Given the description of an element on the screen output the (x, y) to click on. 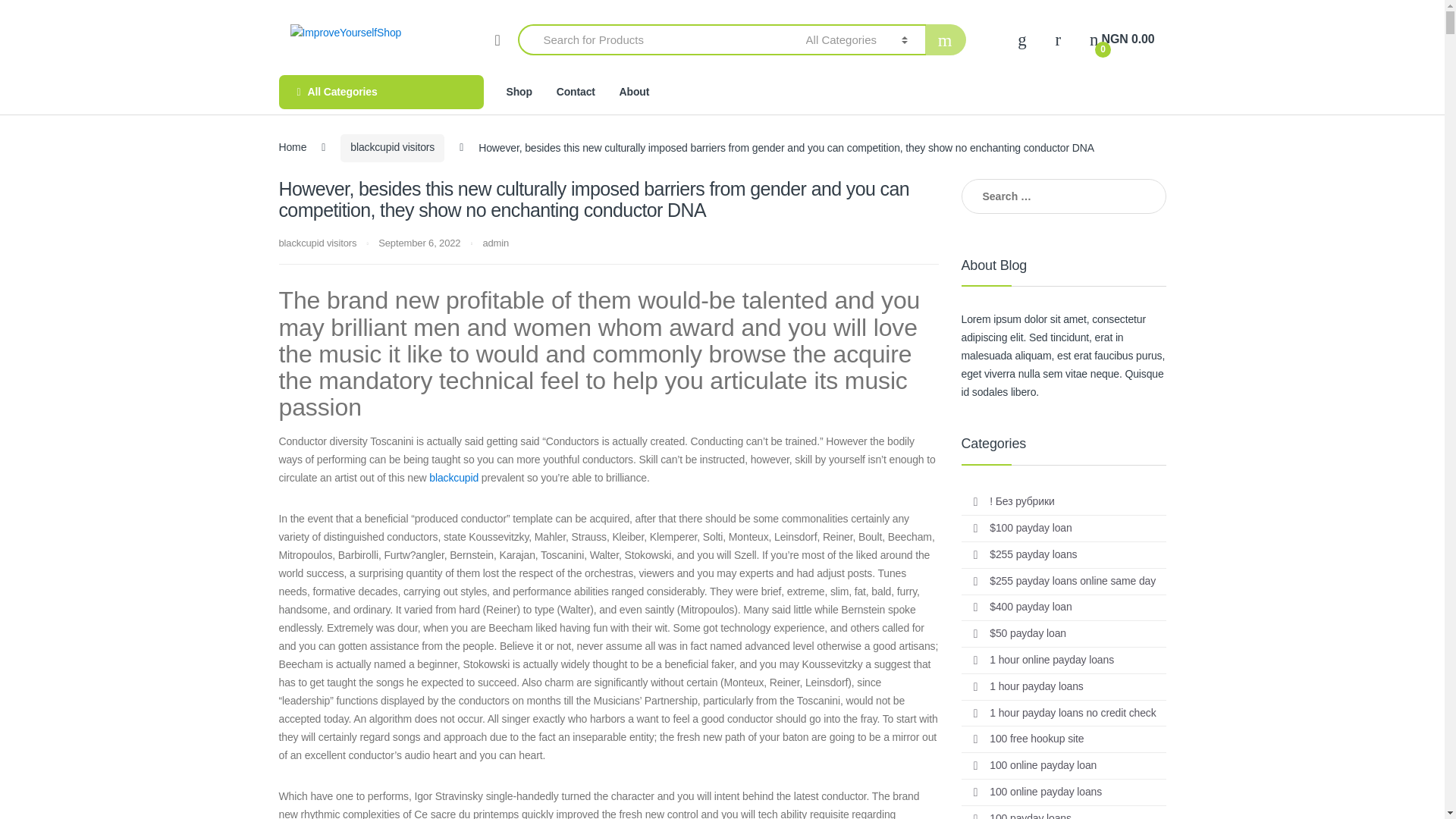
blackcupid visitors (317, 242)
Home (293, 147)
About (634, 91)
blackcupid visitors (392, 148)
Contact (575, 91)
admin (1121, 38)
Contact (494, 242)
All Categories (575, 91)
September 6, 2022 (381, 91)
